Given the description of an element on the screen output the (x, y) to click on. 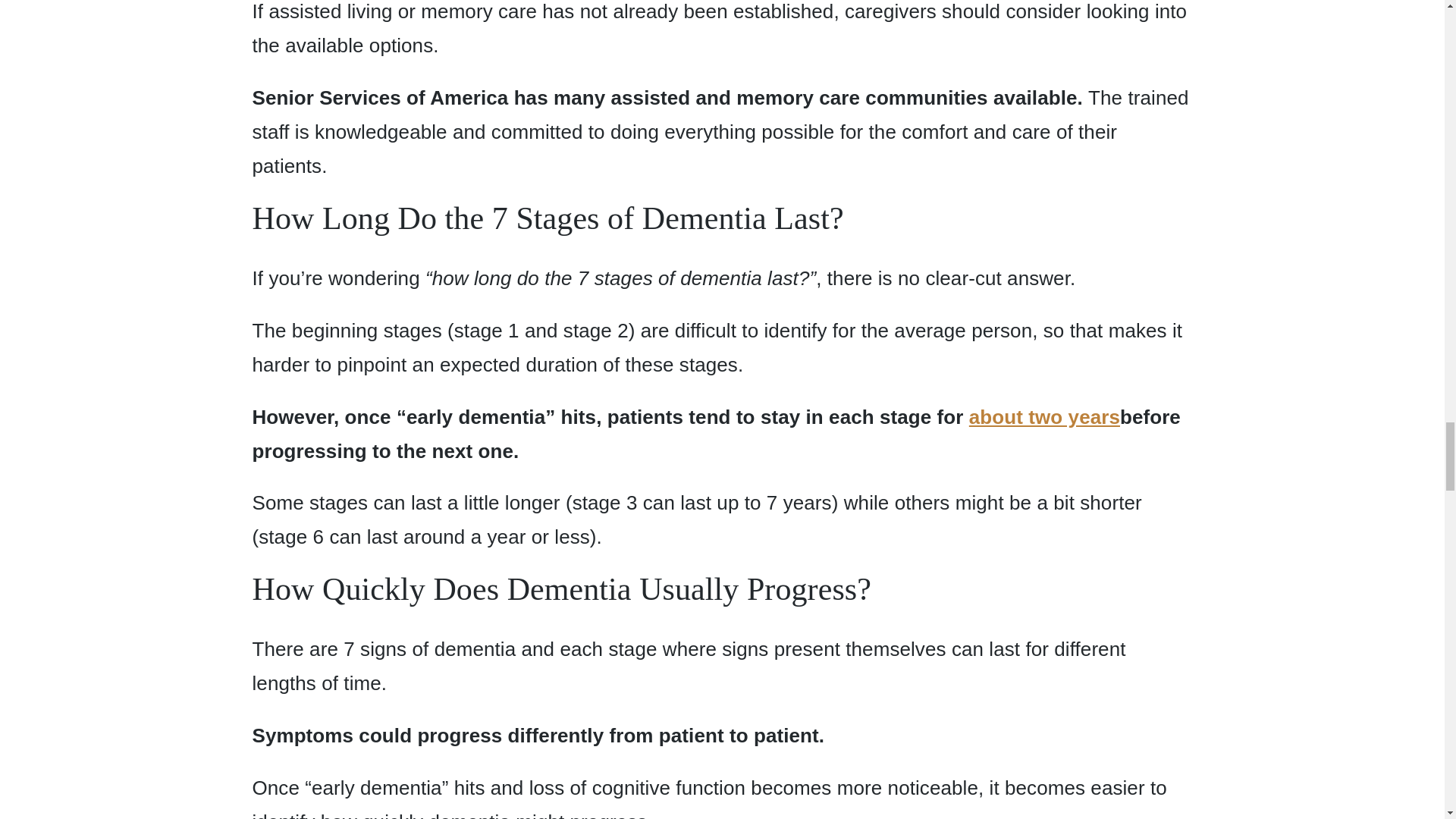
about two years (1044, 416)
